Given the description of an element on the screen output the (x, y) to click on. 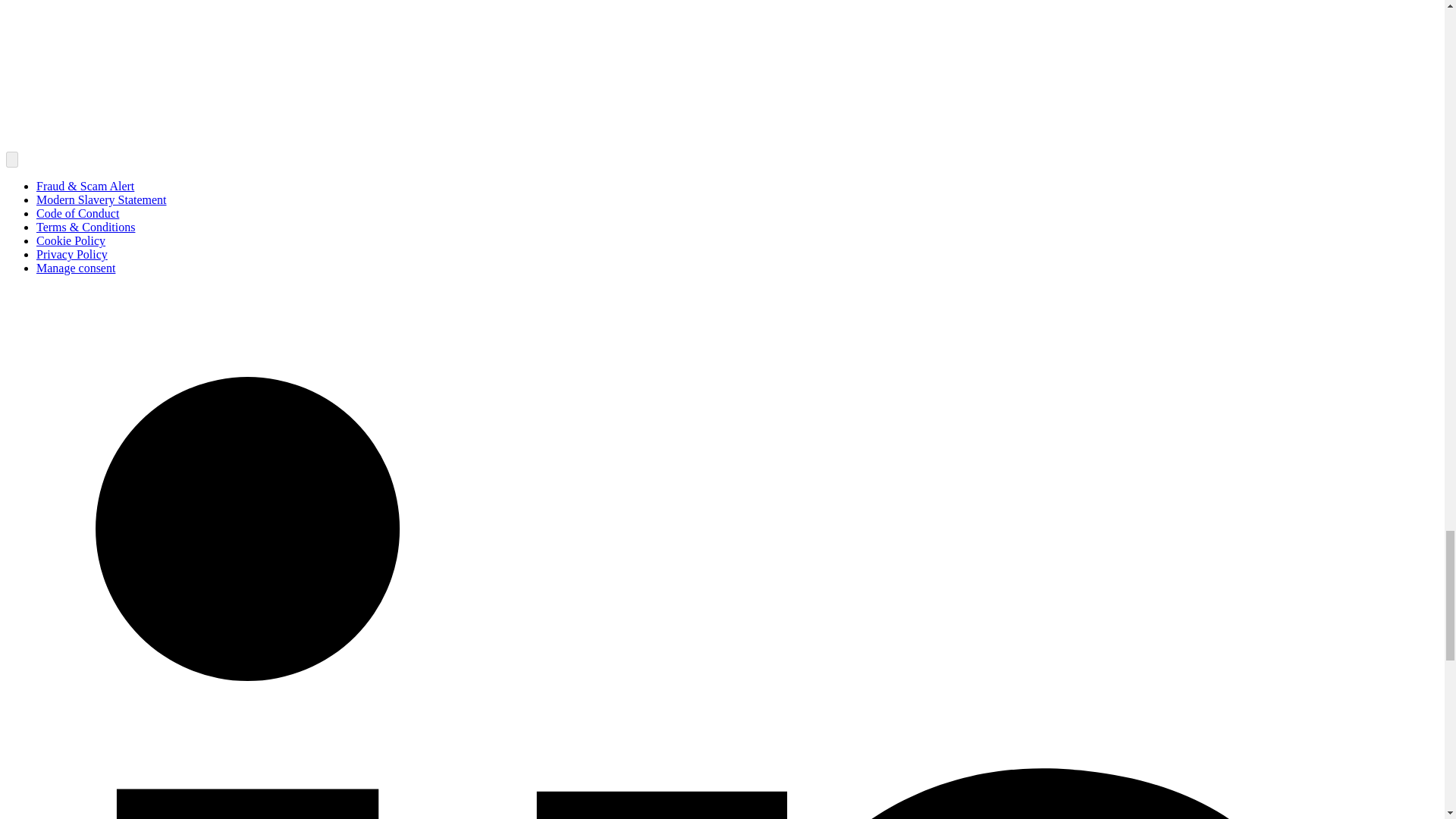
Cookie Policy (70, 240)
Modern Slavery Statement (101, 199)
Manage consent (75, 267)
Code of Conduct (77, 213)
Privacy Policy (71, 254)
